Given the description of an element on the screen output the (x, y) to click on. 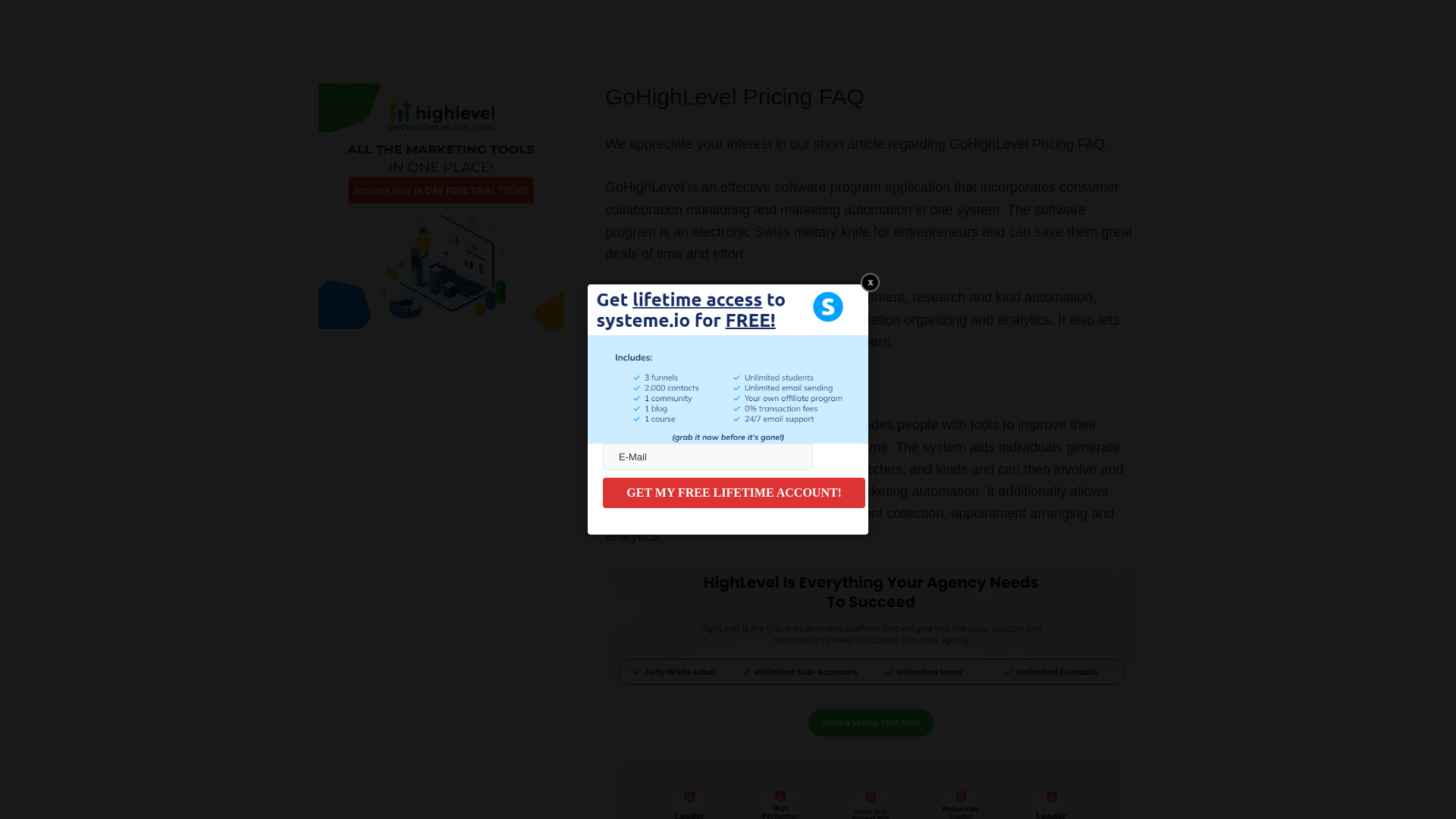
GET MY FREE LIFETIME ACCOUNT! (733, 492)
GET MY FREE LIFETIME ACCOUNT! (733, 492)
